Given the description of an element on the screen output the (x, y) to click on. 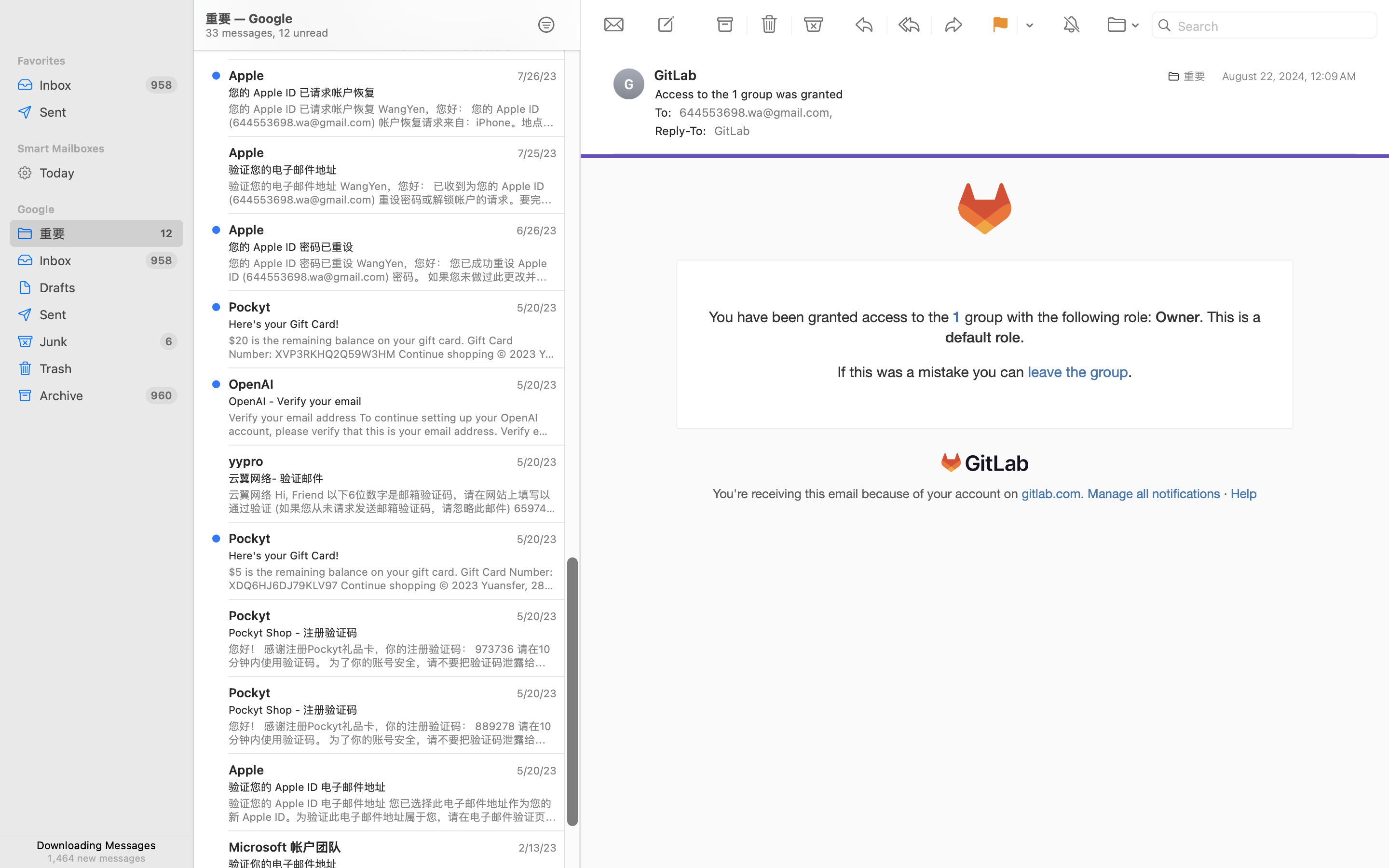
Google Element type: AXStaticText (96, 209)
August 22, 2024, 12:09 AM Element type: AXStaticText (1289, 75)
5/20/23 Element type: AXStaticText (535, 384)
Downloading Messages Element type: AXStaticText (96, 844)
6/26/23 Element type: AXStaticText (535, 230)
